Given the description of an element on the screen output the (x, y) to click on. 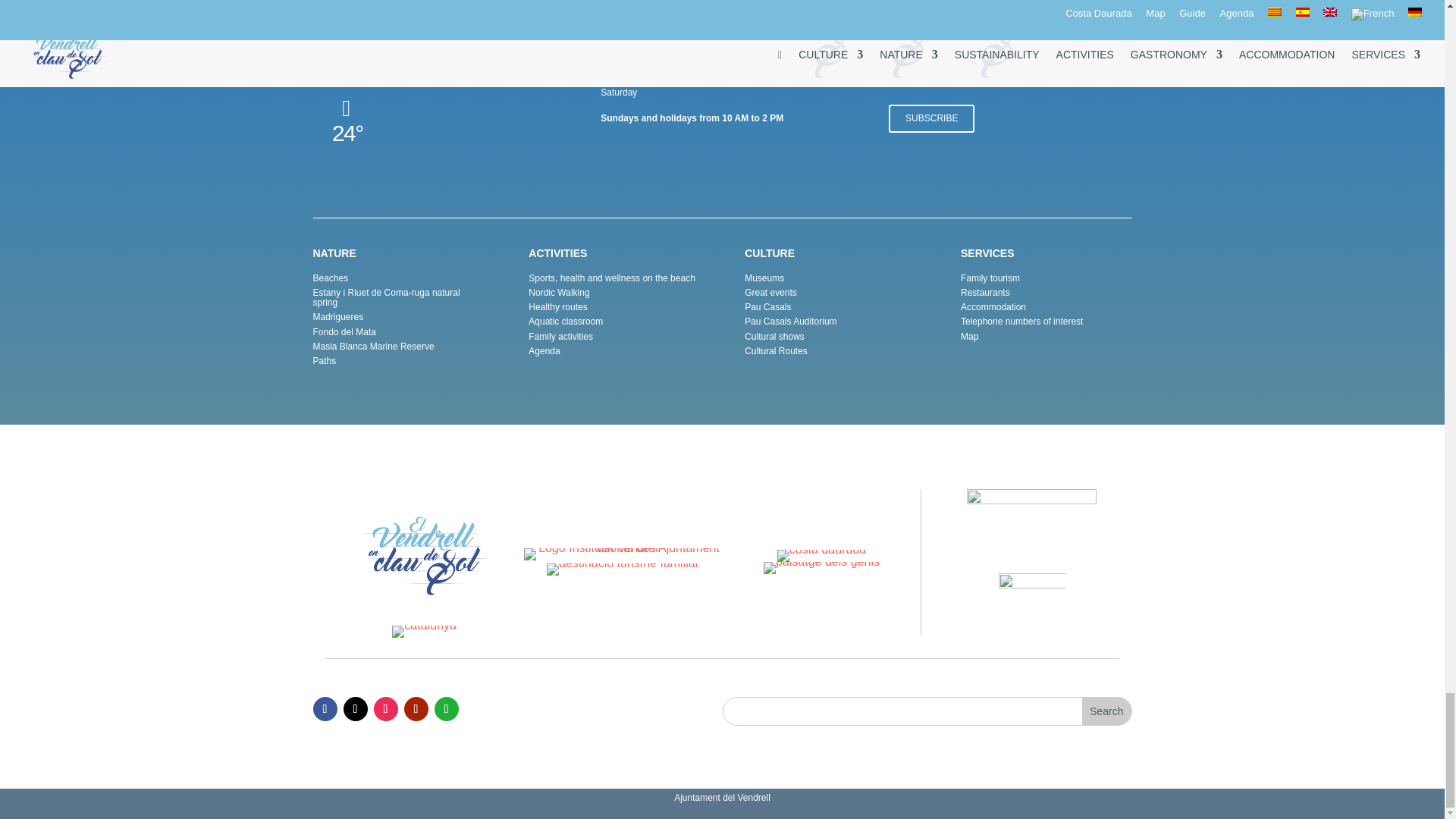
Follow on X (354, 708)
Logo Institucional de l'Ajuntament del Vendrell (623, 553)
logo-en-clau-de-sol (424, 555)
Logo Bandera Blava (1031, 604)
paisatge-dels-genis (820, 567)
Follow on WhatsApp (445, 708)
Search (1106, 710)
catalunya (424, 631)
costa-daurada (821, 555)
Follow on Facebook (324, 708)
